Given the description of an element on the screen output the (x, y) to click on. 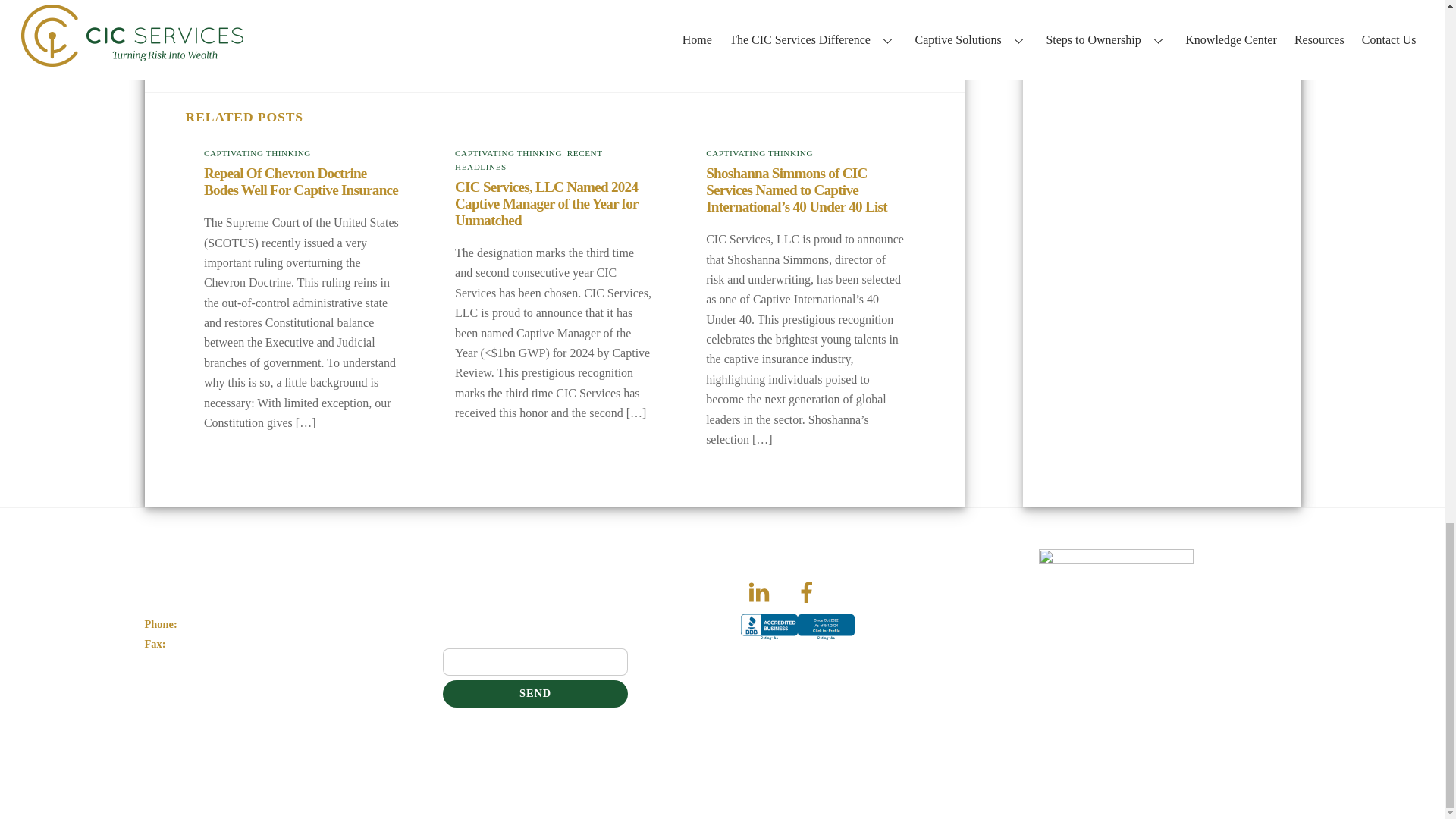
CAPTIVATING THINKING (257, 153)
CIC Services, Insurance Services Office, Knoxville, TN (797, 639)
CAPTIVATING THINKING (508, 153)
Repeal Of Chevron Doctrine Bodes Well For Captive Insurance (300, 181)
CAPTIVATING THINKING (759, 153)
RECENT HEADLINES (528, 159)
Send (535, 693)
